Given the description of an element on the screen output the (x, y) to click on. 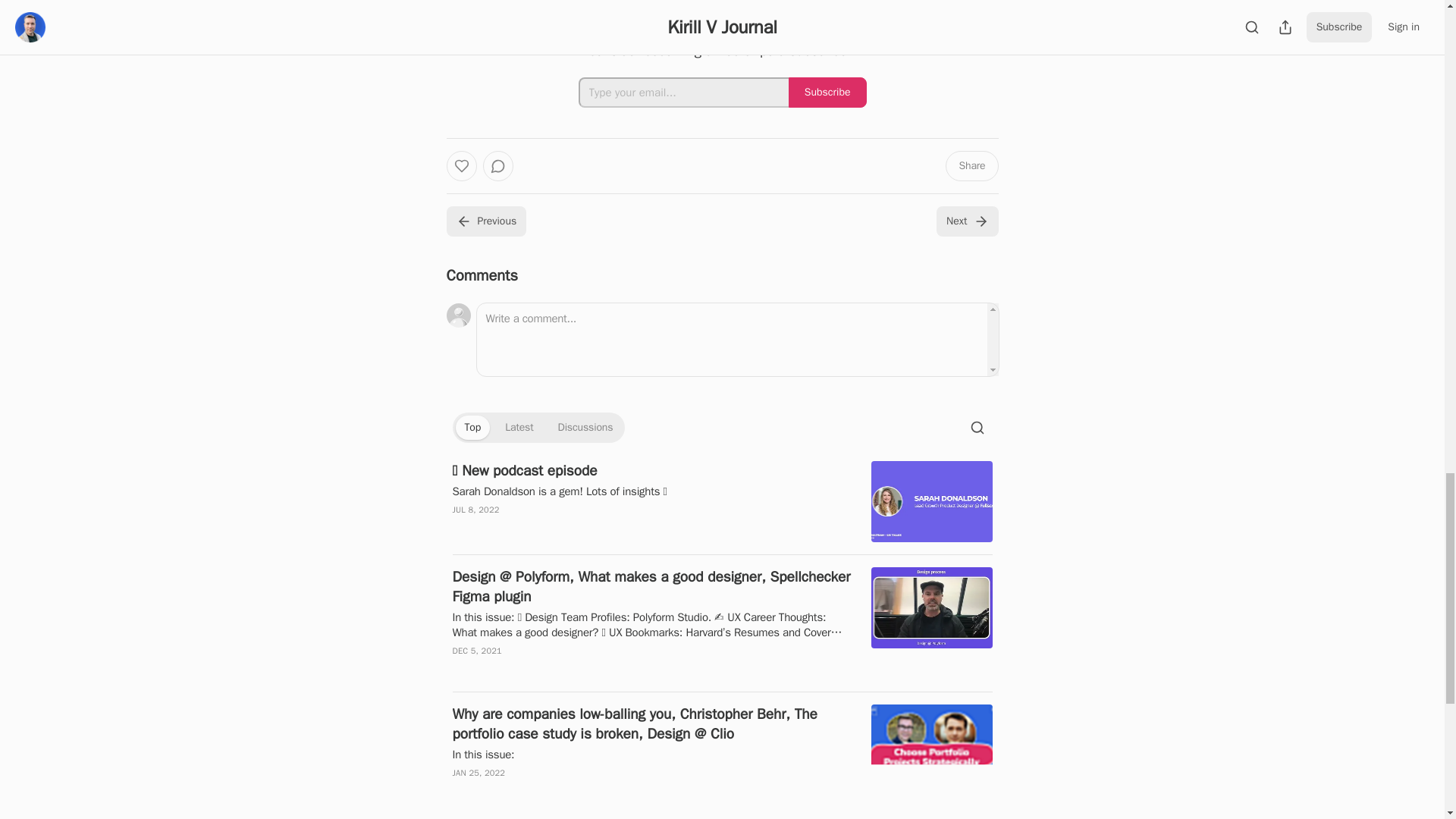
Next (966, 221)
Previous (485, 221)
Subscribe (827, 91)
Share (970, 165)
